Given the description of an element on the screen output the (x, y) to click on. 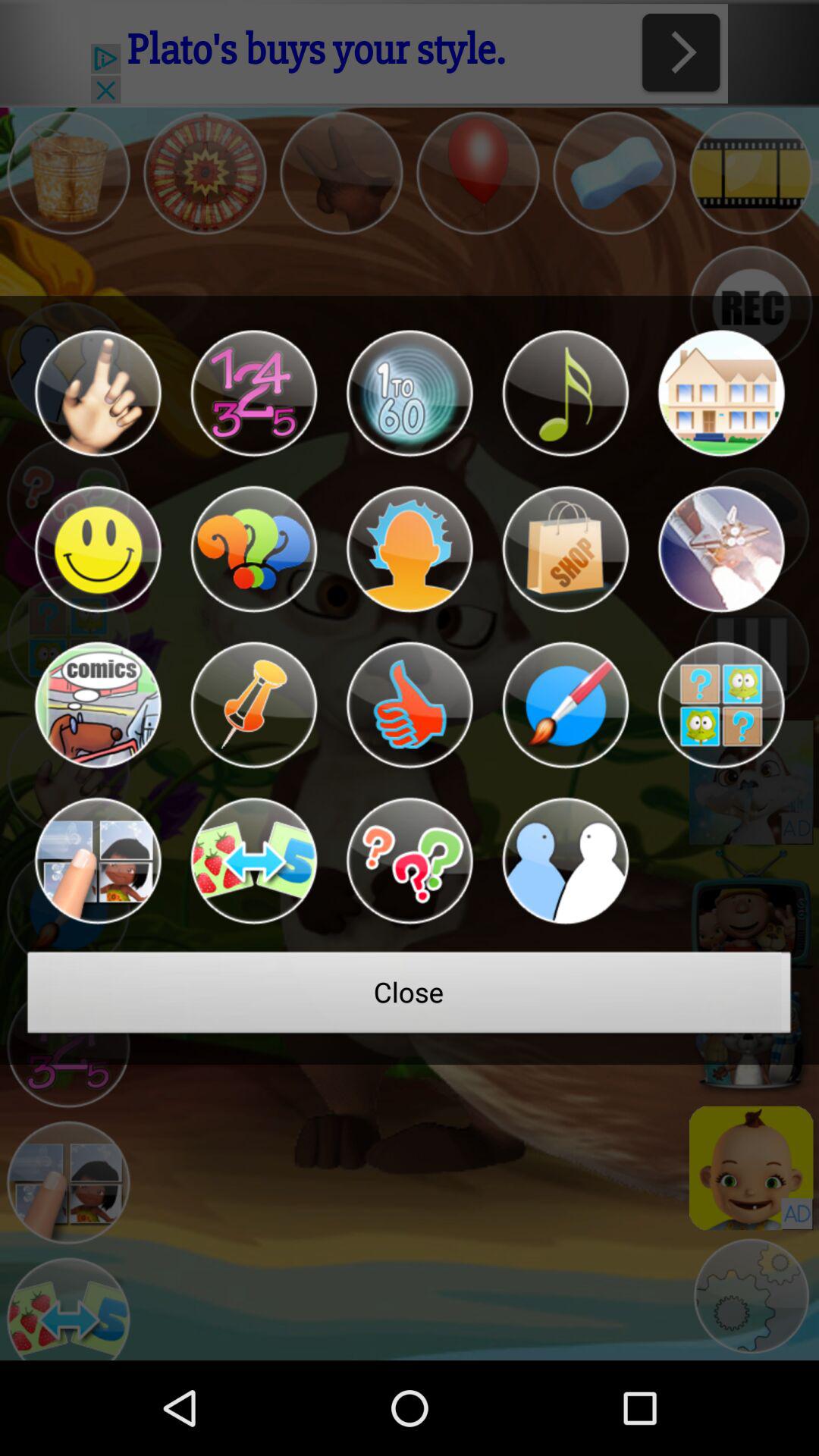
tap the item above close item (97, 861)
